Given the description of an element on the screen output the (x, y) to click on. 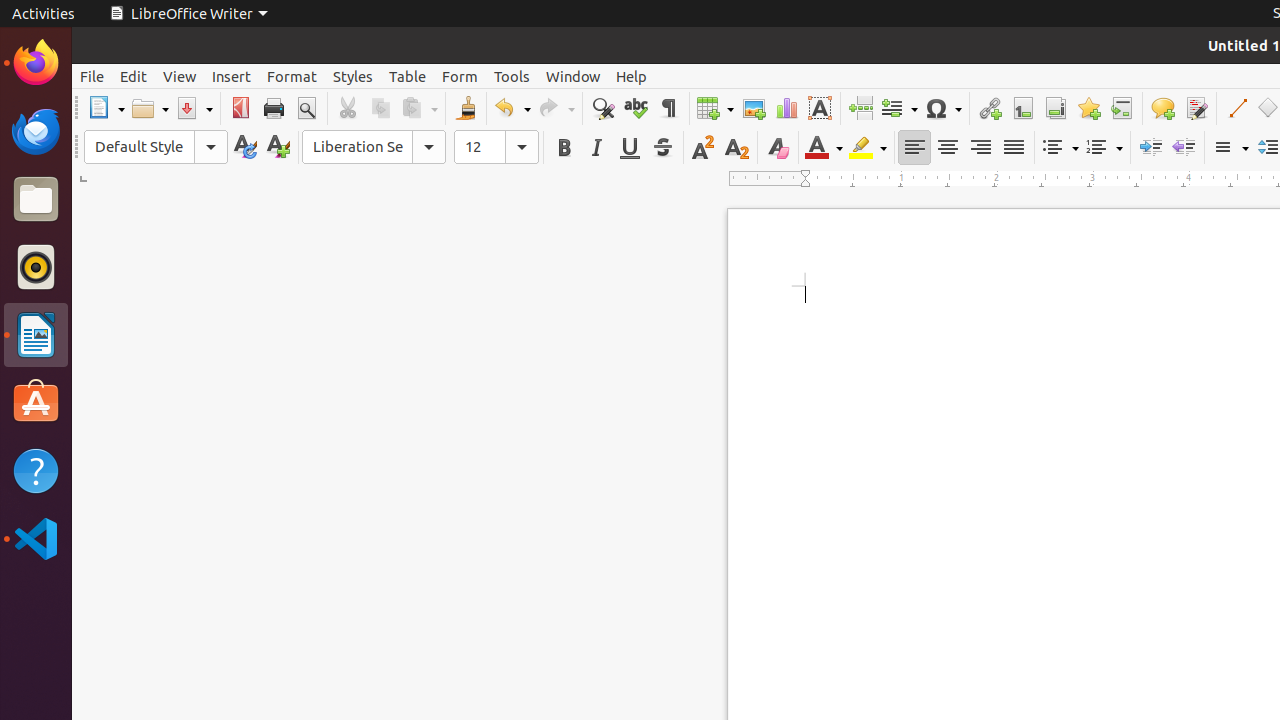
Strikethrough Element type: toggle-button (662, 147)
Clear Element type: push-button (777, 147)
Format Element type: menu (292, 76)
Insert Element type: menu (231, 76)
Track Changes Functions Element type: toggle-button (1195, 108)
